Given the description of an element on the screen output the (x, y) to click on. 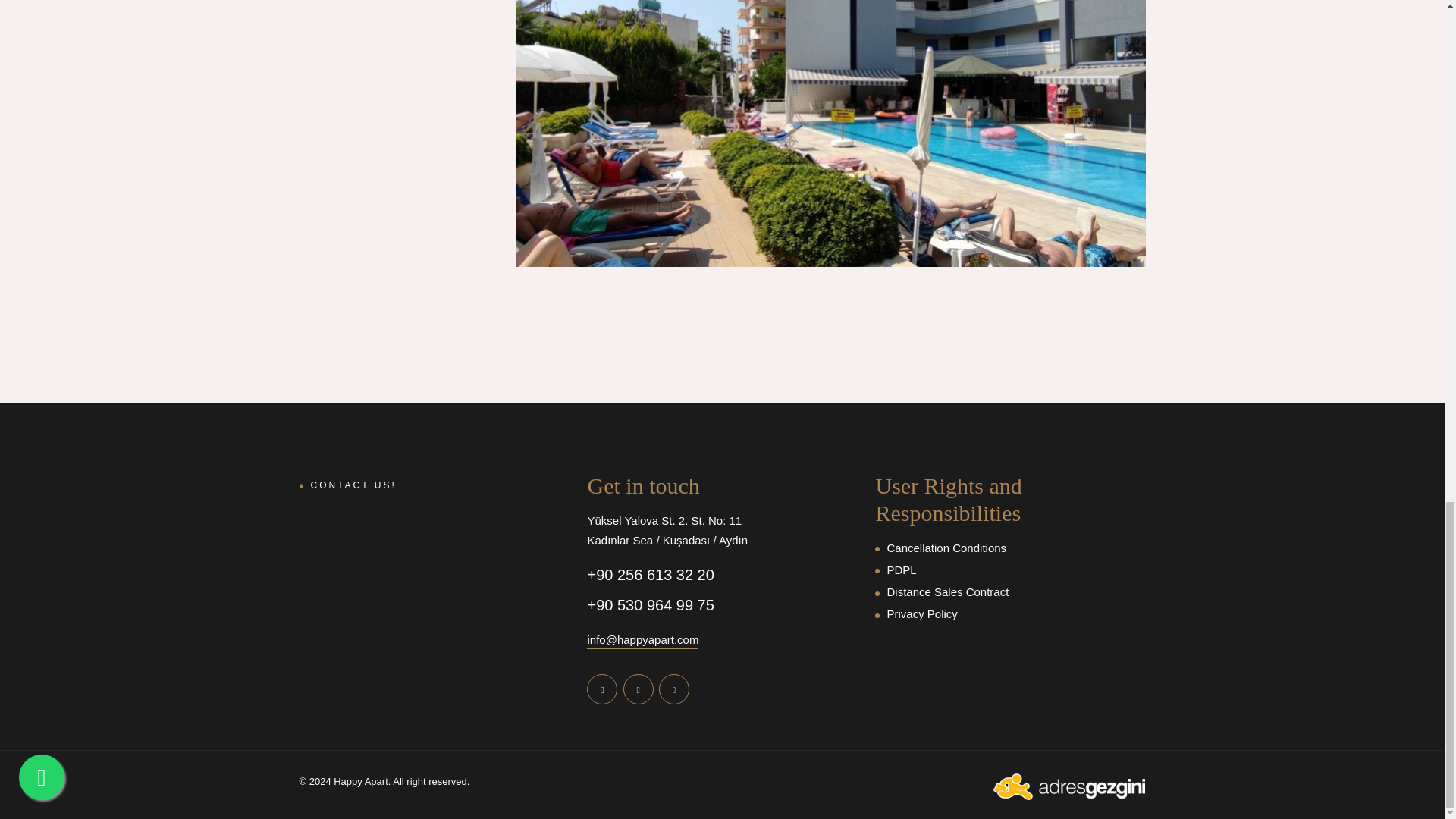
Distance Sales Contract (1009, 591)
Privacy Policy (1009, 614)
Cancellation Conditions (1009, 547)
PDPL (1009, 569)
